Given the description of an element on the screen output the (x, y) to click on. 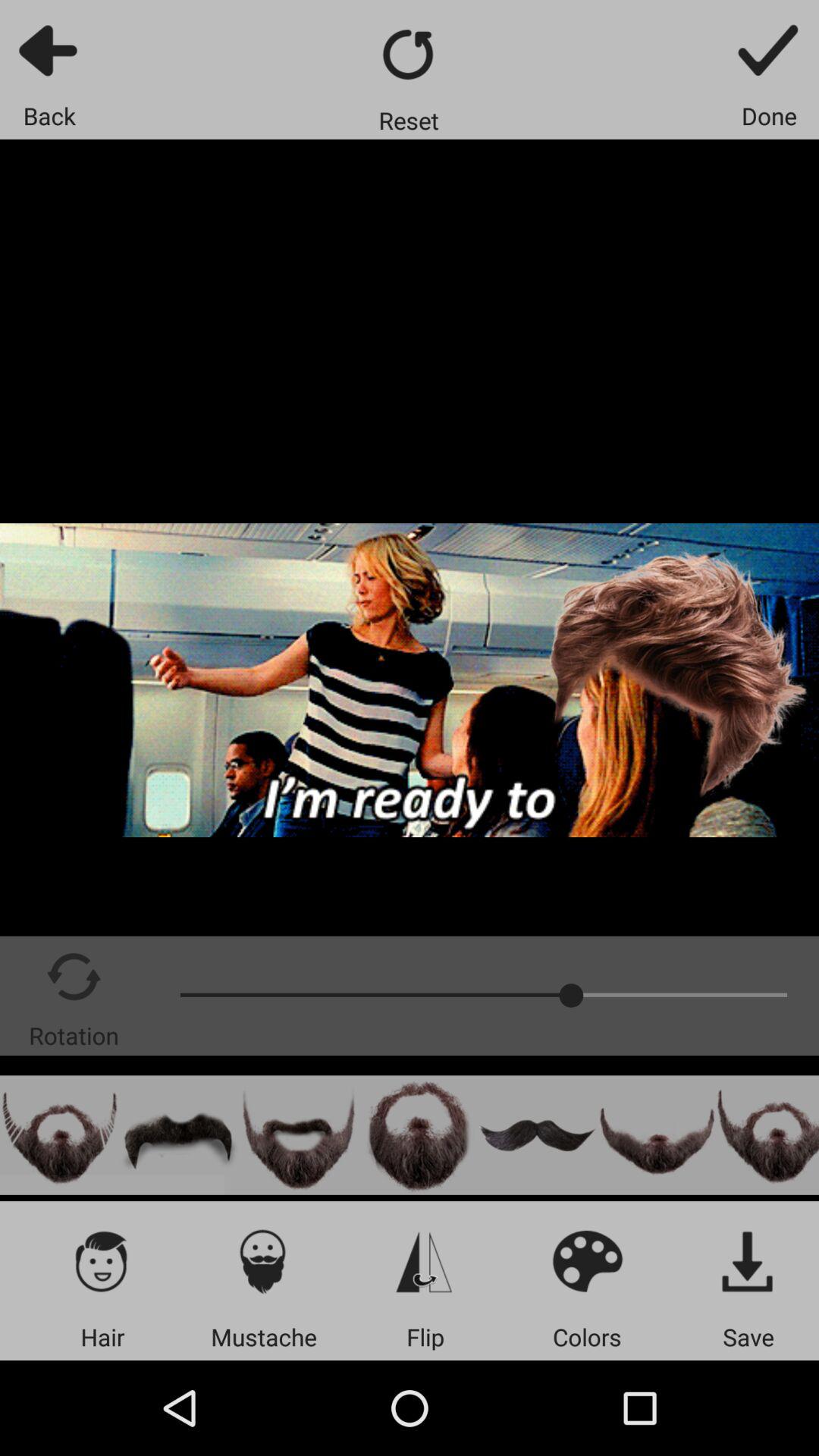
download (748, 1260)
